Given the description of an element on the screen output the (x, y) to click on. 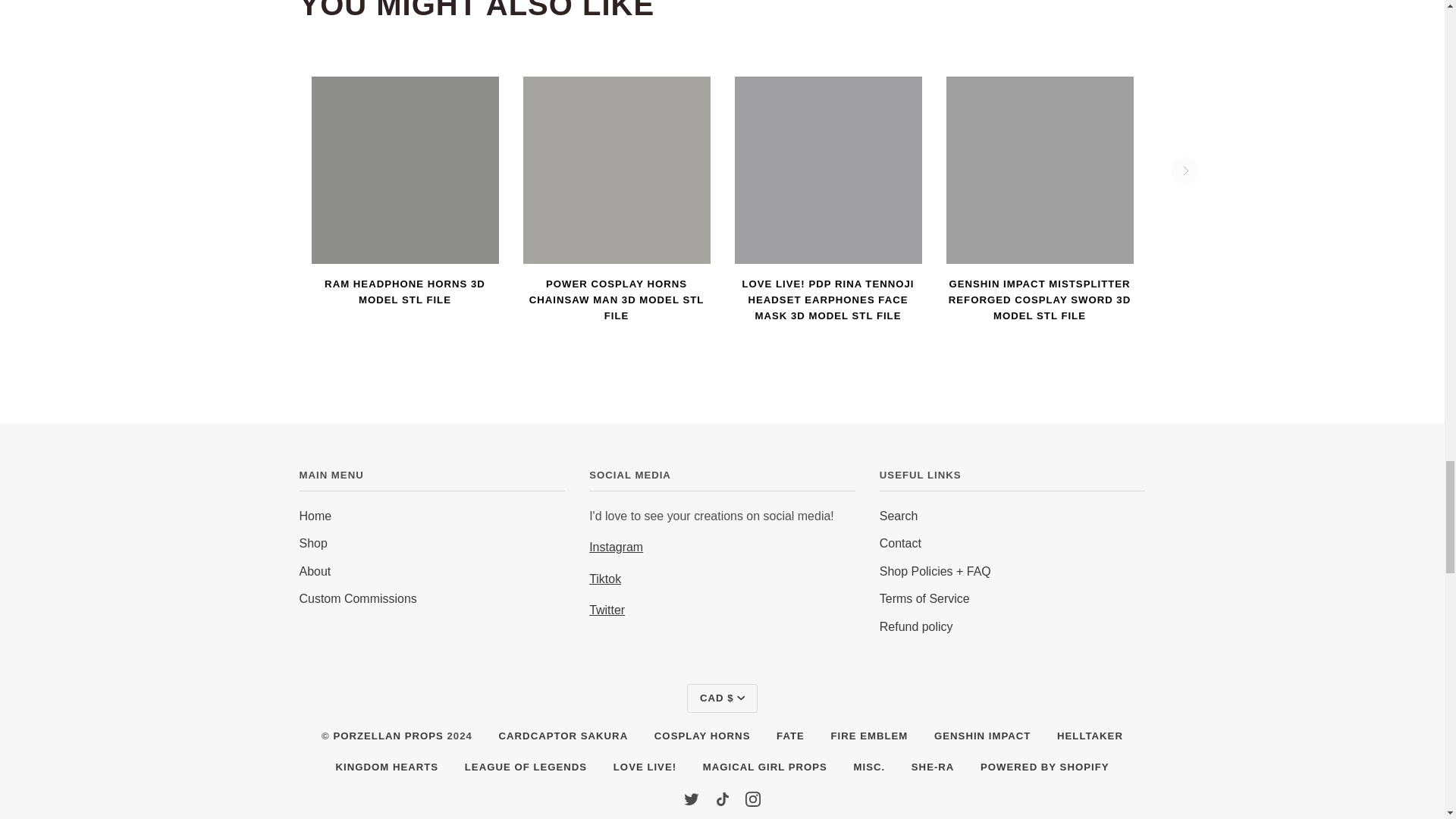
Twitter (691, 797)
Tiktok (721, 797)
Instagram (752, 797)
